Given the description of an element on the screen output the (x, y) to click on. 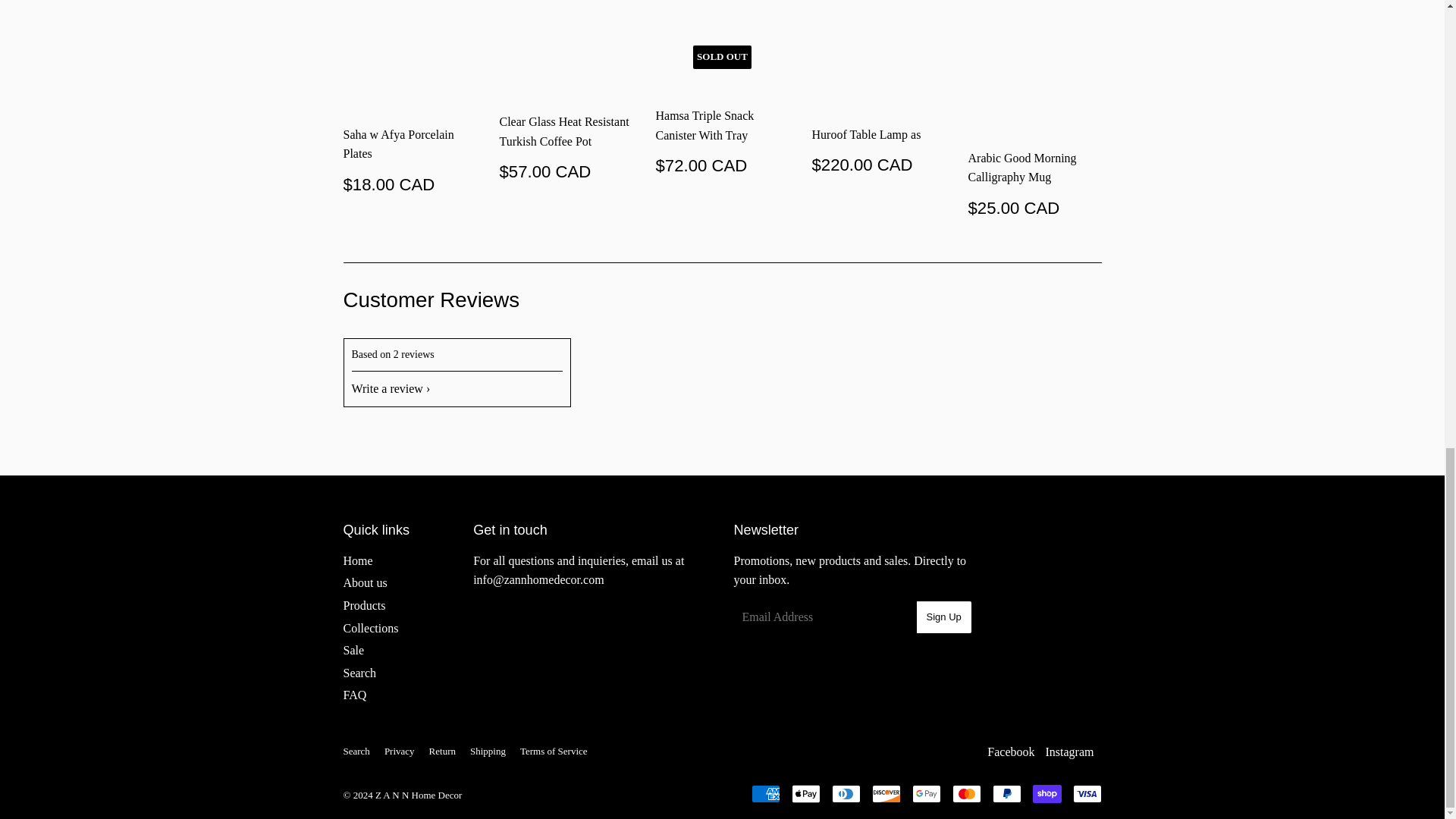
American Express (764, 793)
Google Pay (925, 793)
Shop Pay (1046, 793)
Mastercard (966, 793)
Visa (1085, 793)
Apple Pay (806, 793)
Z A N N Home Decor  on Facebook (1010, 751)
PayPal (1005, 793)
Diners Club (845, 793)
Z A N N Home Decor  on Instagram (1069, 751)
Discover (886, 793)
